Given the description of an element on the screen output the (x, y) to click on. 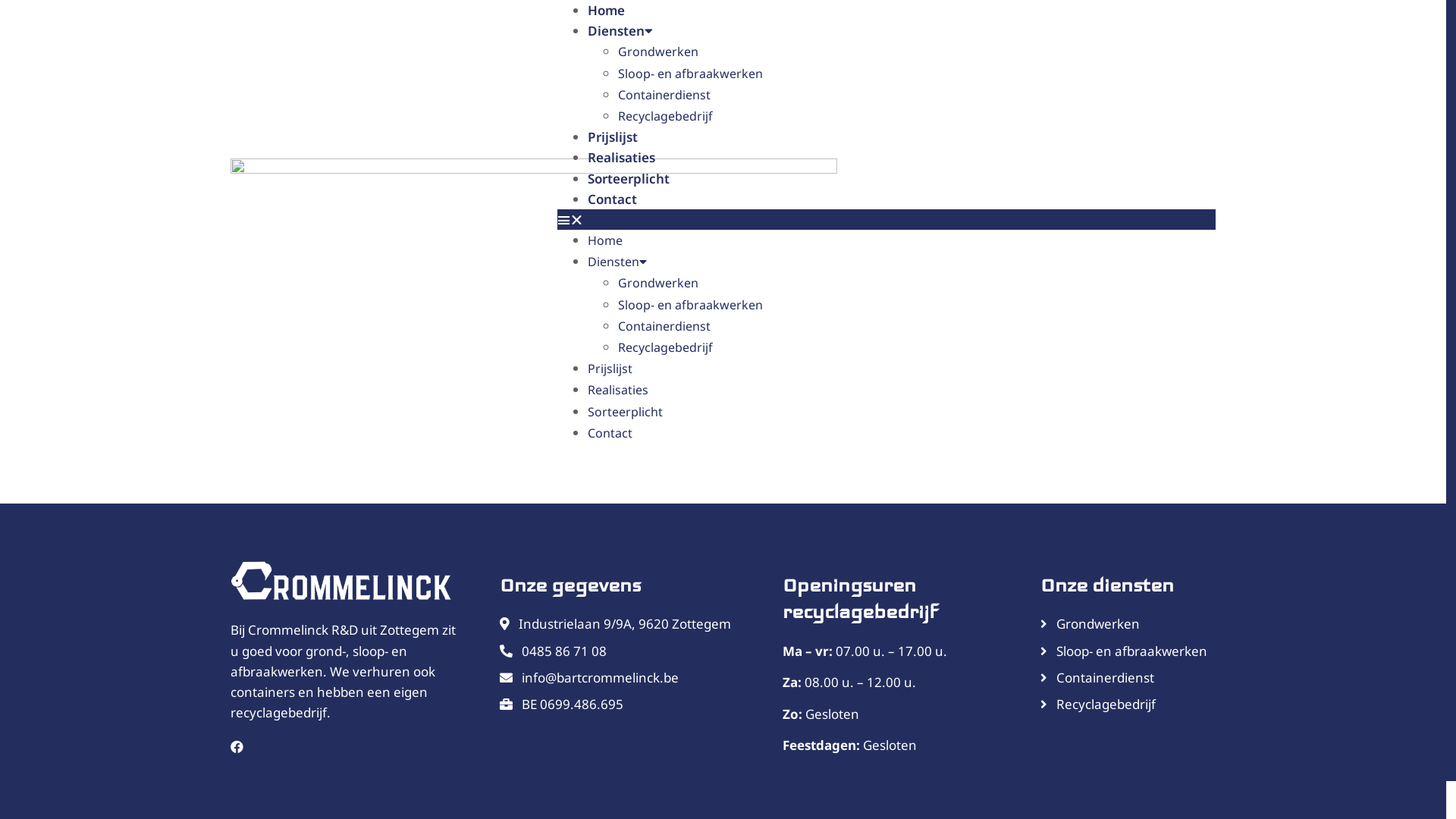
Diensten Element type: text (616, 261)
0485 86 71 08 Element type: text (552, 649)
Recyclagebedrijf Element type: text (665, 347)
info@bartcrommelinck.be Element type: text (588, 677)
Industrielaan 9/9A, 9620 Zottegem Element type: text (615, 623)
Containerdienst Element type: text (664, 94)
Sloop- en afbraakwerken Element type: text (690, 304)
Home Element type: text (604, 240)
Realisaties Element type: text (621, 157)
Contact Element type: text (612, 198)
Containerdienst Element type: text (1097, 677)
Prijslijst Element type: text (609, 368)
Grondwerken Element type: text (658, 51)
Sloop- en afbraakwerken Element type: text (1123, 649)
Sorteerplicht Element type: text (624, 411)
Grondwerken Element type: text (1089, 623)
Prijslijst Element type: text (612, 136)
Sloop- en afbraakwerken Element type: text (690, 73)
Sorteerplicht Element type: text (628, 177)
Recyclagebedrijf Element type: text (1097, 703)
Containerdienst Element type: text (664, 326)
Grondwerken Element type: text (658, 282)
Realisaties Element type: text (617, 389)
Contact Element type: text (609, 432)
Recyclagebedrijf Element type: text (665, 115)
